Given the description of an element on the screen output the (x, y) to click on. 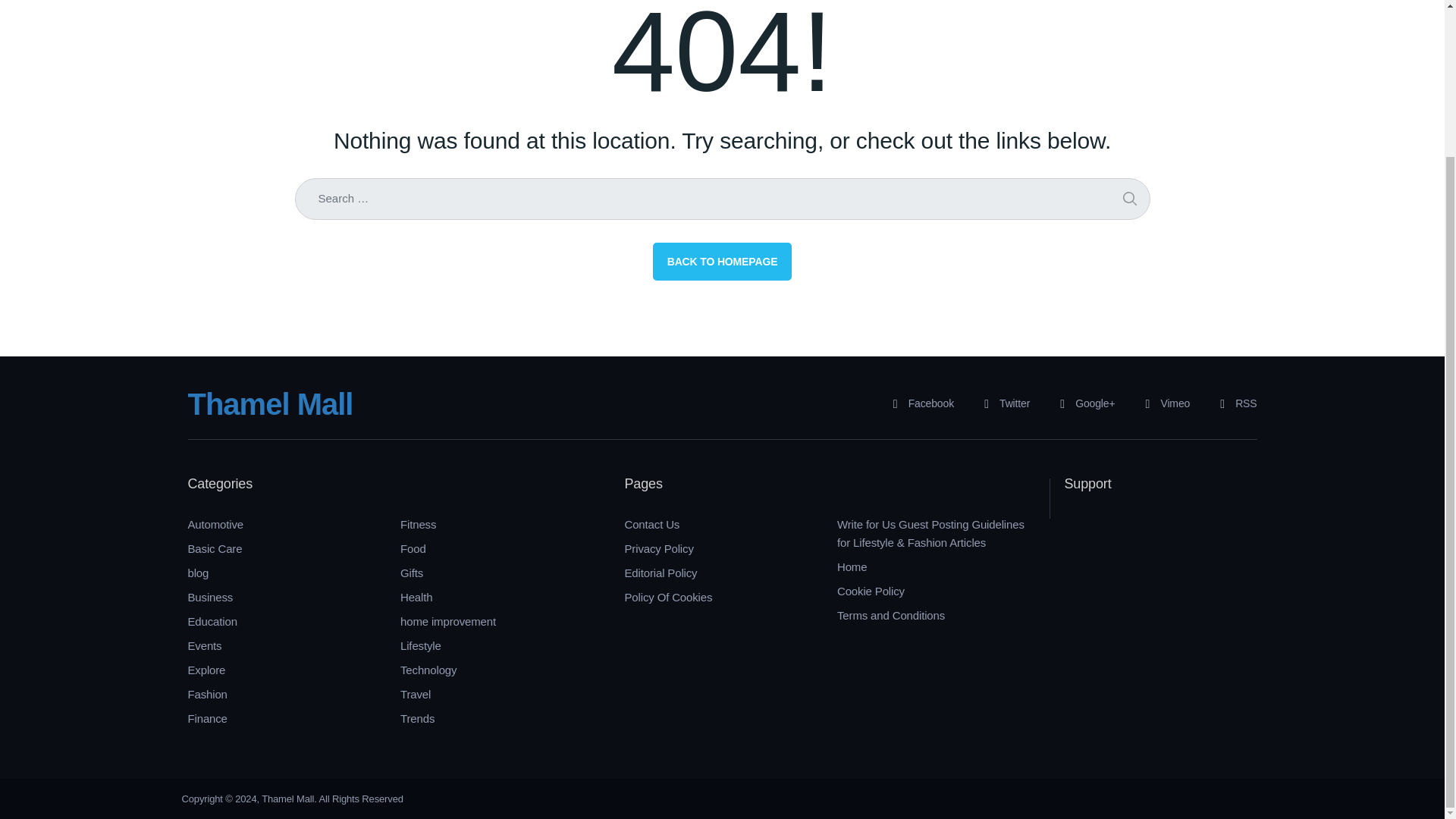
Twitter (1001, 403)
Facebook (917, 403)
SEARCH (1128, 199)
BACK TO HOMEPAGE (722, 260)
Thamel Mall (270, 404)
